Given the description of an element on the screen output the (x, y) to click on. 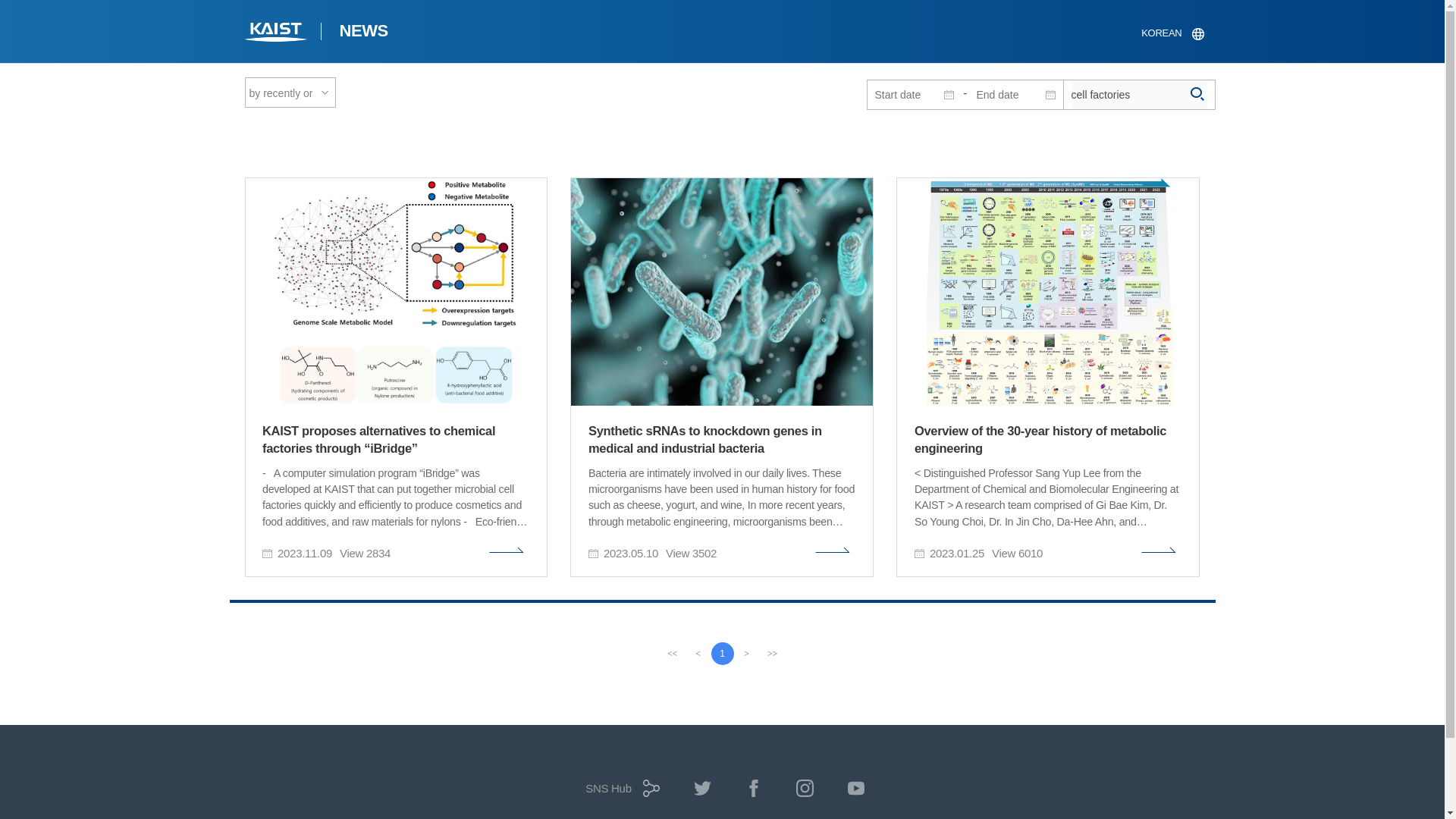
Input a Keyword (1138, 94)
1 (722, 653)
SNS Hub (619, 793)
KOREAN (1171, 33)
cell factories (1138, 94)
NEWS (363, 33)
KAIST (276, 33)
